Given the description of an element on the screen output the (x, y) to click on. 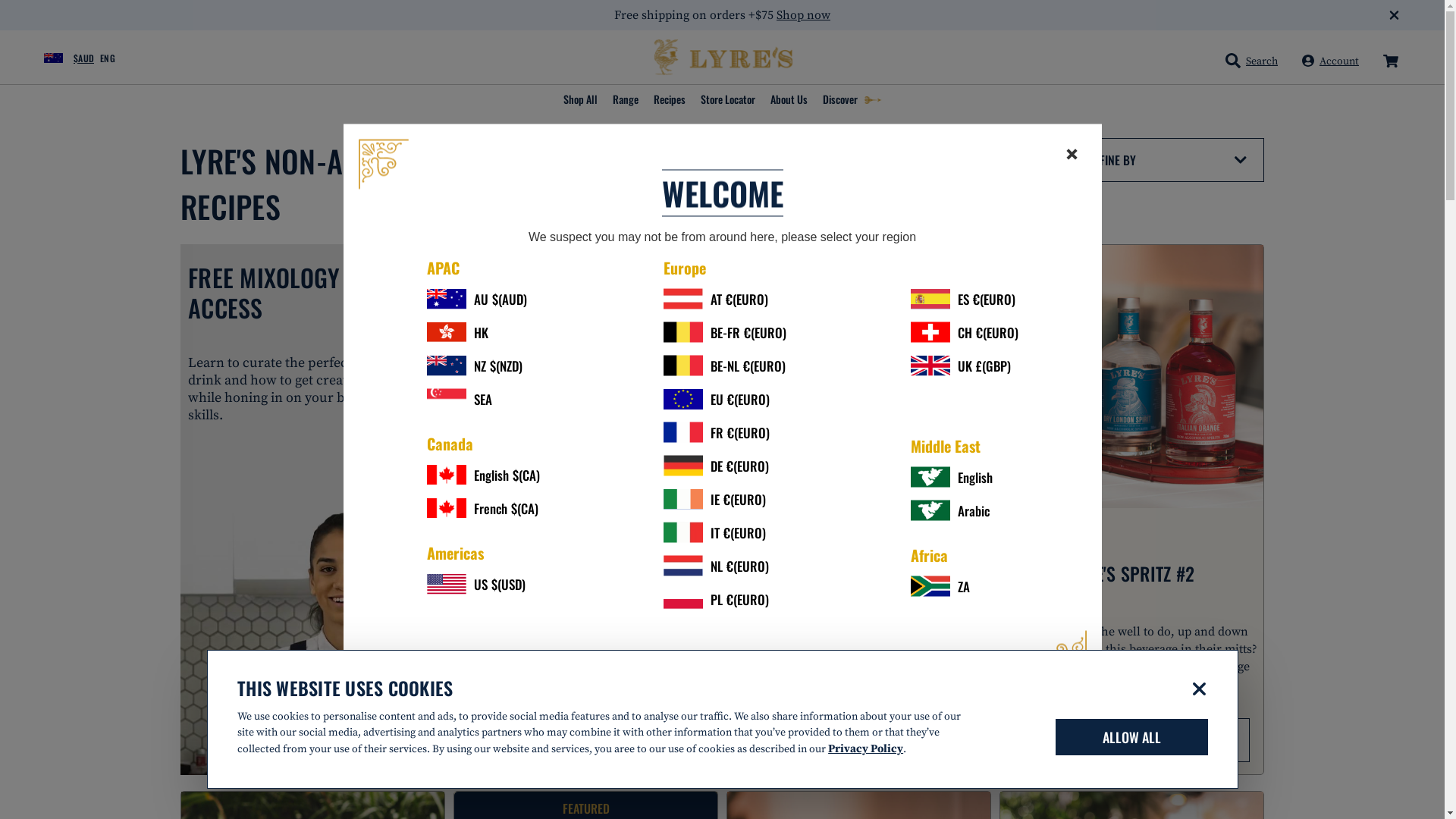
Store Locator Element type: text (727, 99)
Privacy Policy Element type: text (865, 748)
Shop All Element type: text (579, 99)
ZA Element type: text (963, 586)
English
$(CA) Element type: text (482, 474)
English Element type: text (963, 477)
French
$(CA) Element type: text (482, 507)
Lyre's Spirit Co Element type: hover (721, 57)
VIEW RECIPE Element type: text (585, 740)
AU
$(AUD) Element type: text (482, 298)
VIEW RECIPE Element type: text (858, 740)
US
$(USD) Element type: text (482, 583)
$AUD Element type: text (59, 56)
Discover Element type: text (851, 99)
SEA Element type: text (482, 398)
Search Element type: text (1251, 60)
Free shipping on orders +$75 Shop now Element type: text (722, 15)
NZ
$(NZD) Element type: text (482, 364)
LYRE'S AMALFI SPRITZ Element type: text (858, 572)
About Us Element type: text (788, 99)
LYRE'S SPRITZ #2 Element type: text (1131, 572)
Arabic Element type: text (963, 510)
VIEW RECIPE Element type: text (1131, 740)
ALLOW ALL Element type: text (1131, 737)
LYRE'S FESTIVAL SPRITZ Element type: text (585, 572)
ENG Element type: text (110, 57)
Lyre's Amalfi Spritz Element type: hover (858, 376)
HK Element type: text (482, 331)
Deny Element type: text (1199, 688)
Lyre's Spritz #2 Element type: hover (1131, 376)
Range Element type: text (625, 99)
Lyre's Festival Spritz Element type: hover (585, 376)
Account Element type: text (1330, 60)
Recipes Element type: text (669, 99)
